Given the description of an element on the screen output the (x, y) to click on. 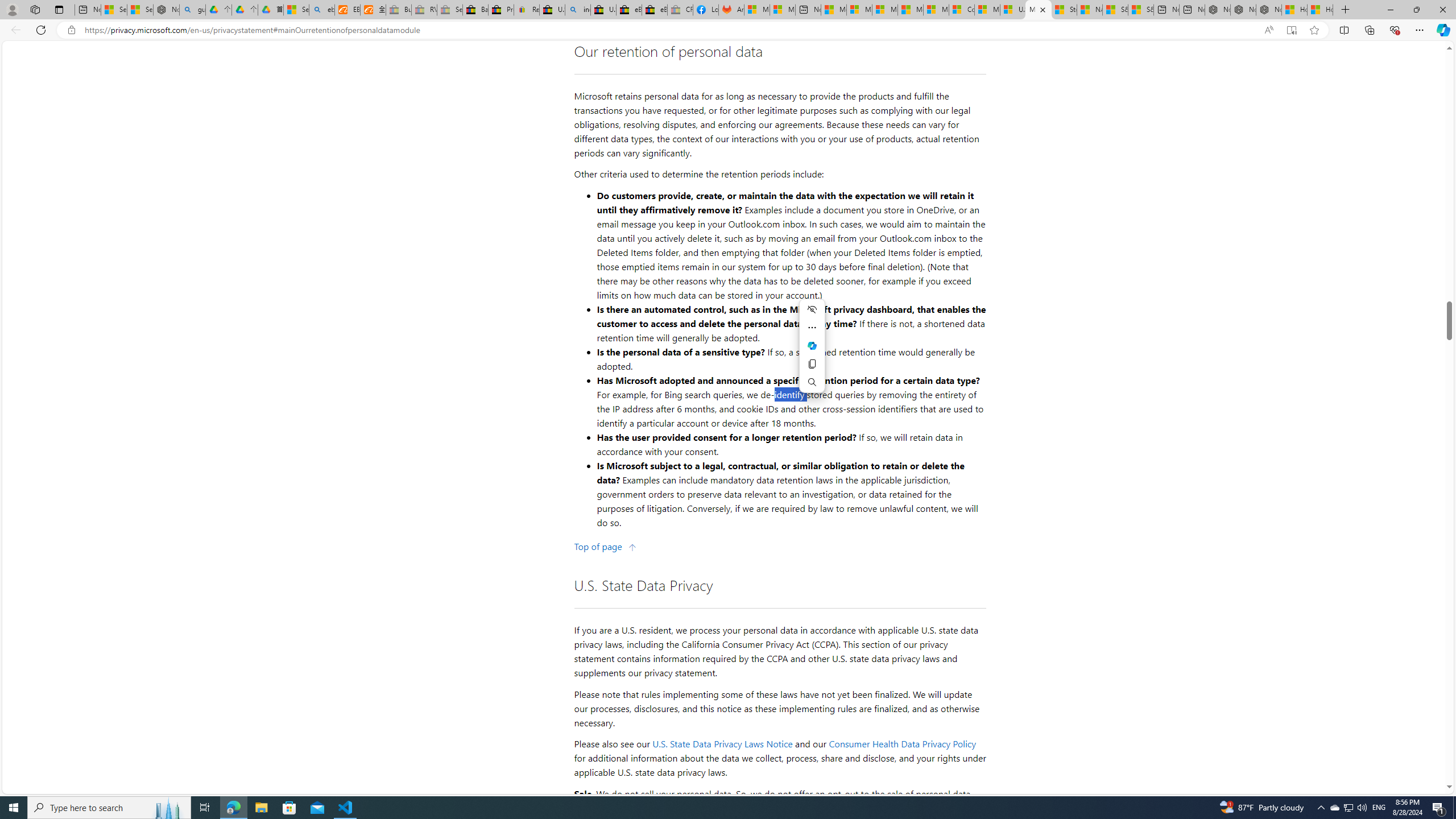
Mini menu on text selection (811, 345)
Register: Create a personal eBay account (526, 9)
Log into Facebook (705, 9)
S&P 500, Nasdaq end lower, weighed by Nvidia dip | Watch (1140, 9)
